Given the description of an element on the screen output the (x, y) to click on. 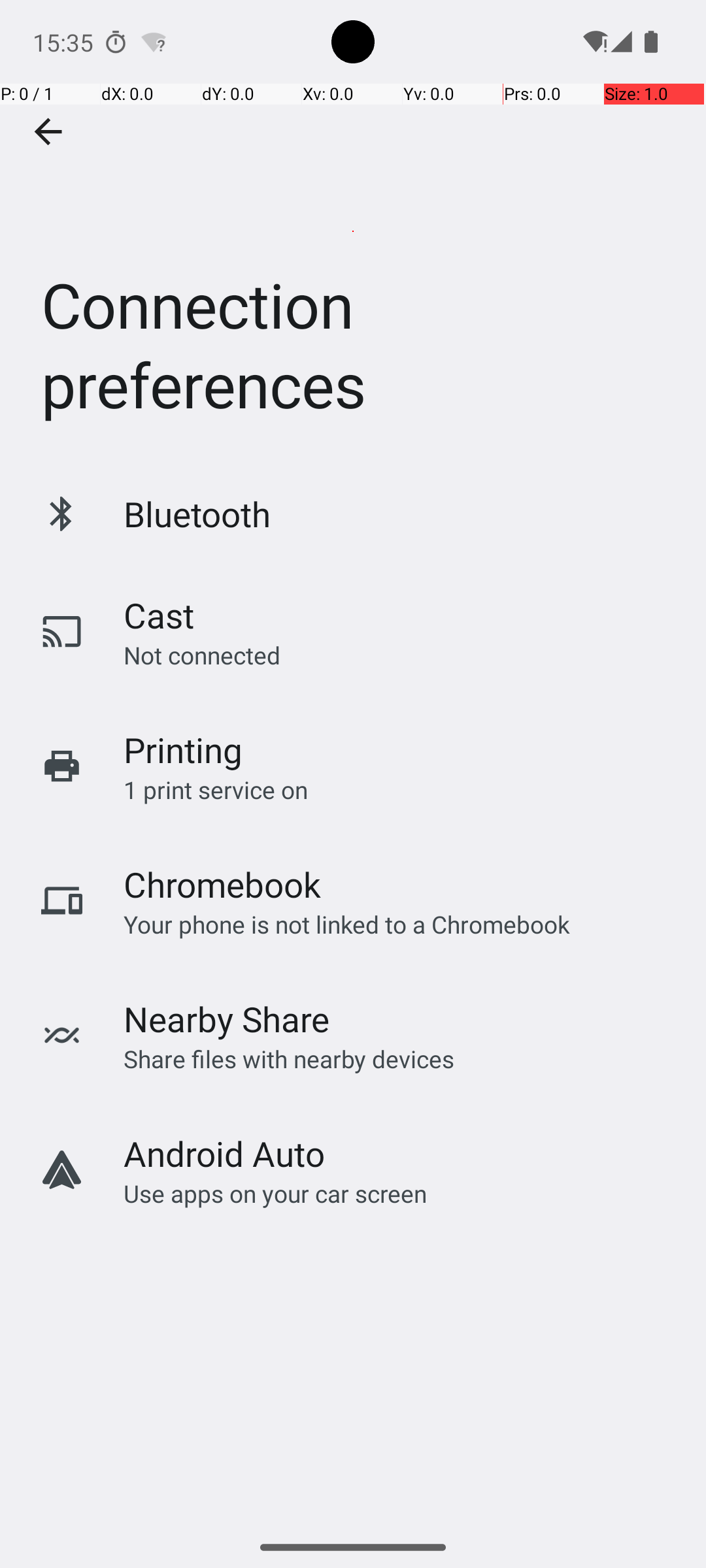
Bluetooth Element type: android.widget.TextView (197, 513)
Cast Element type: android.widget.TextView (158, 614)
Not connected Element type: android.widget.TextView (201, 654)
Printing Element type: android.widget.TextView (182, 749)
1 print service on Element type: android.widget.TextView (215, 789)
Chromebook Element type: android.widget.TextView (222, 884)
Your phone is not linked to a Chromebook Element type: android.widget.TextView (346, 923)
Nearby Share Element type: android.widget.TextView (226, 1018)
Share files with nearby devices Element type: android.widget.TextView (288, 1058)
Use apps on your car screen Element type: android.widget.TextView (275, 1192)
